Given the description of an element on the screen output the (x, y) to click on. 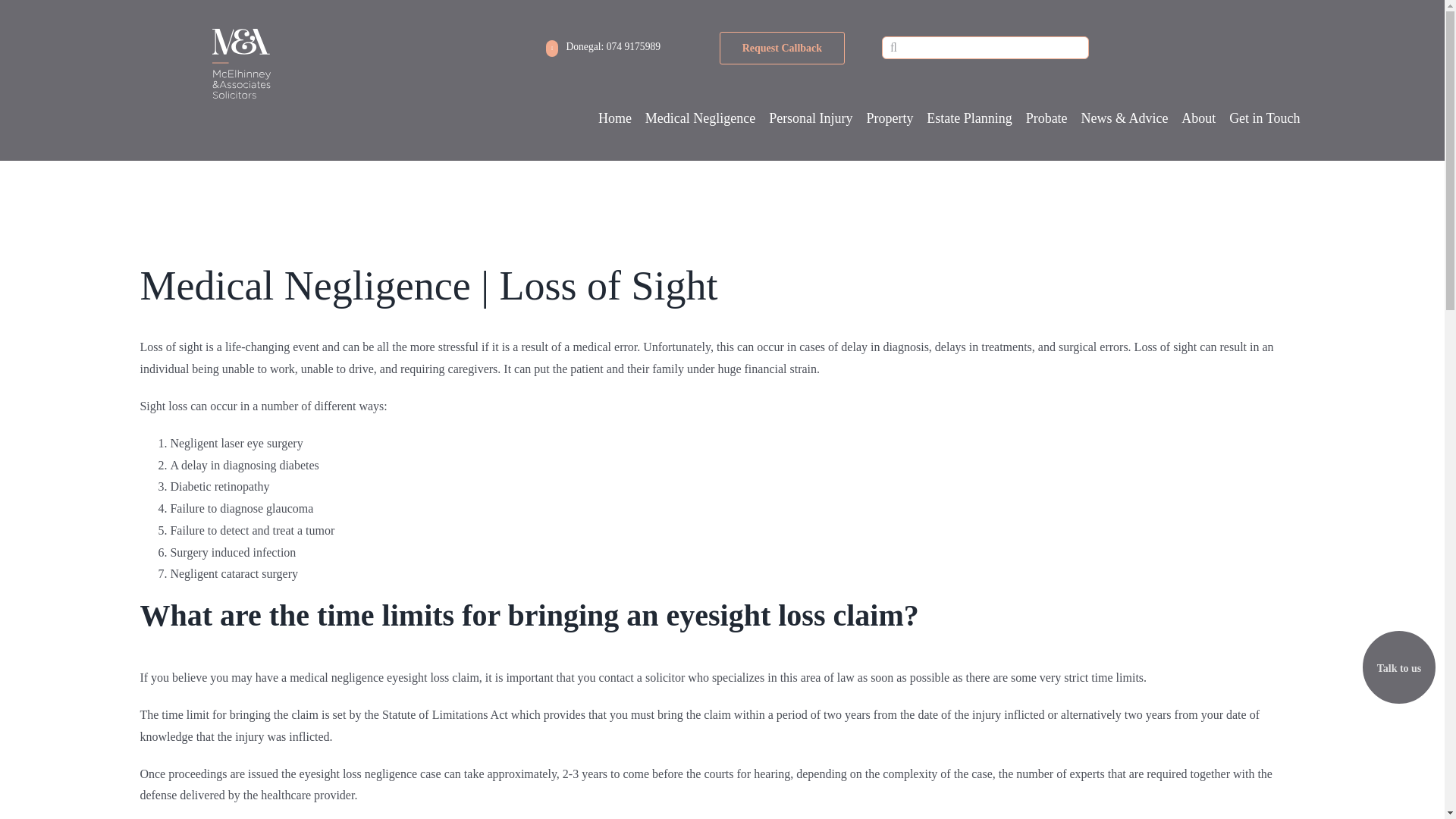
Probate (1046, 118)
Get in Touch (1264, 118)
Home (614, 118)
Estate Planning (968, 118)
Personal Injury (809, 118)
Request Callback (781, 47)
Donegal: 074 9175989 (603, 46)
Medical Negligence (700, 118)
Property (889, 118)
About (1197, 118)
